Given the description of an element on the screen output the (x, y) to click on. 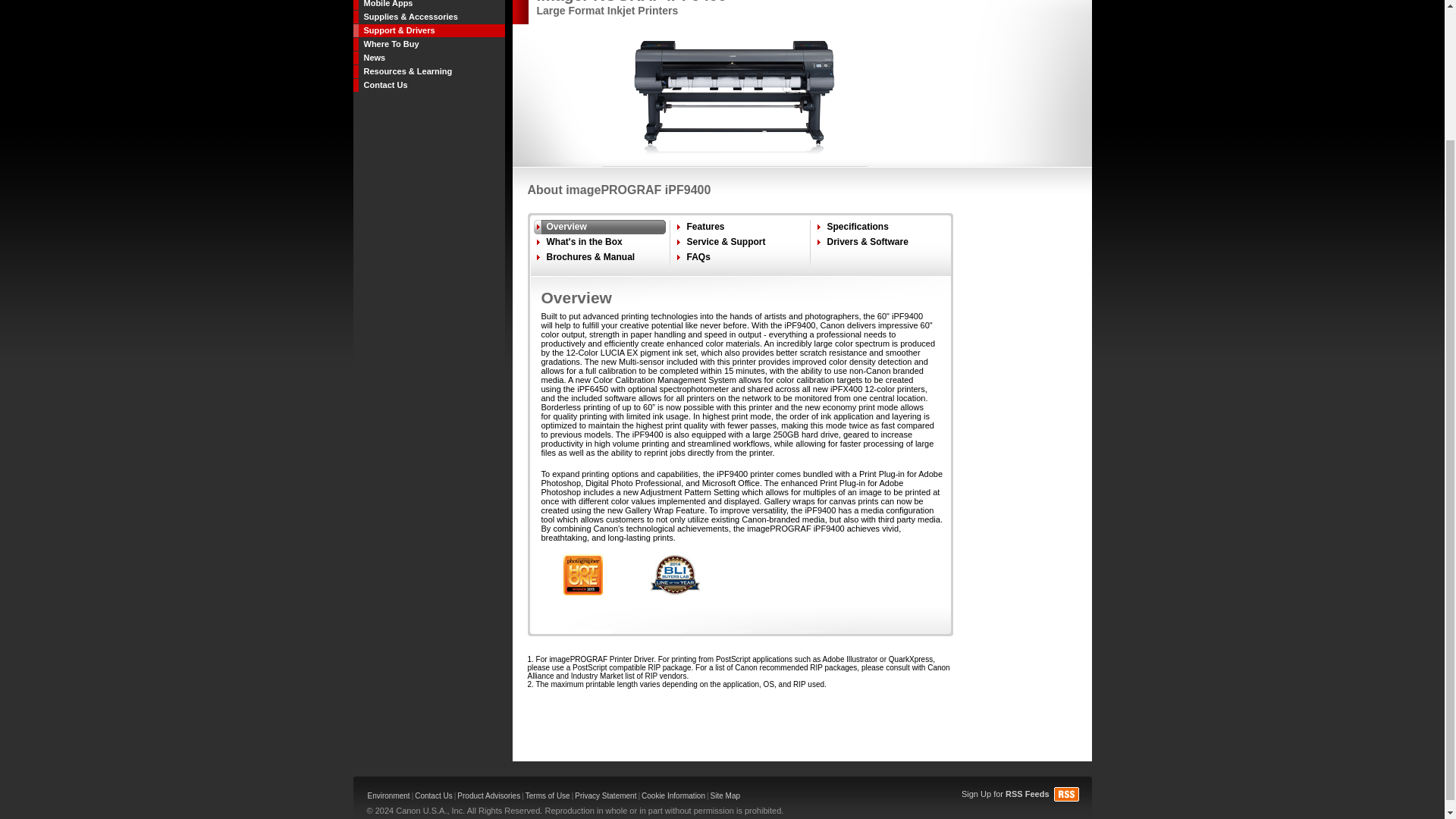
Contact Us (432, 795)
Cookie Information (673, 795)
Privacy Statement (605, 795)
Terms of Use (547, 795)
Product Advisories (488, 795)
Environment (387, 795)
Site Map (724, 795)
